Given the description of an element on the screen output the (x, y) to click on. 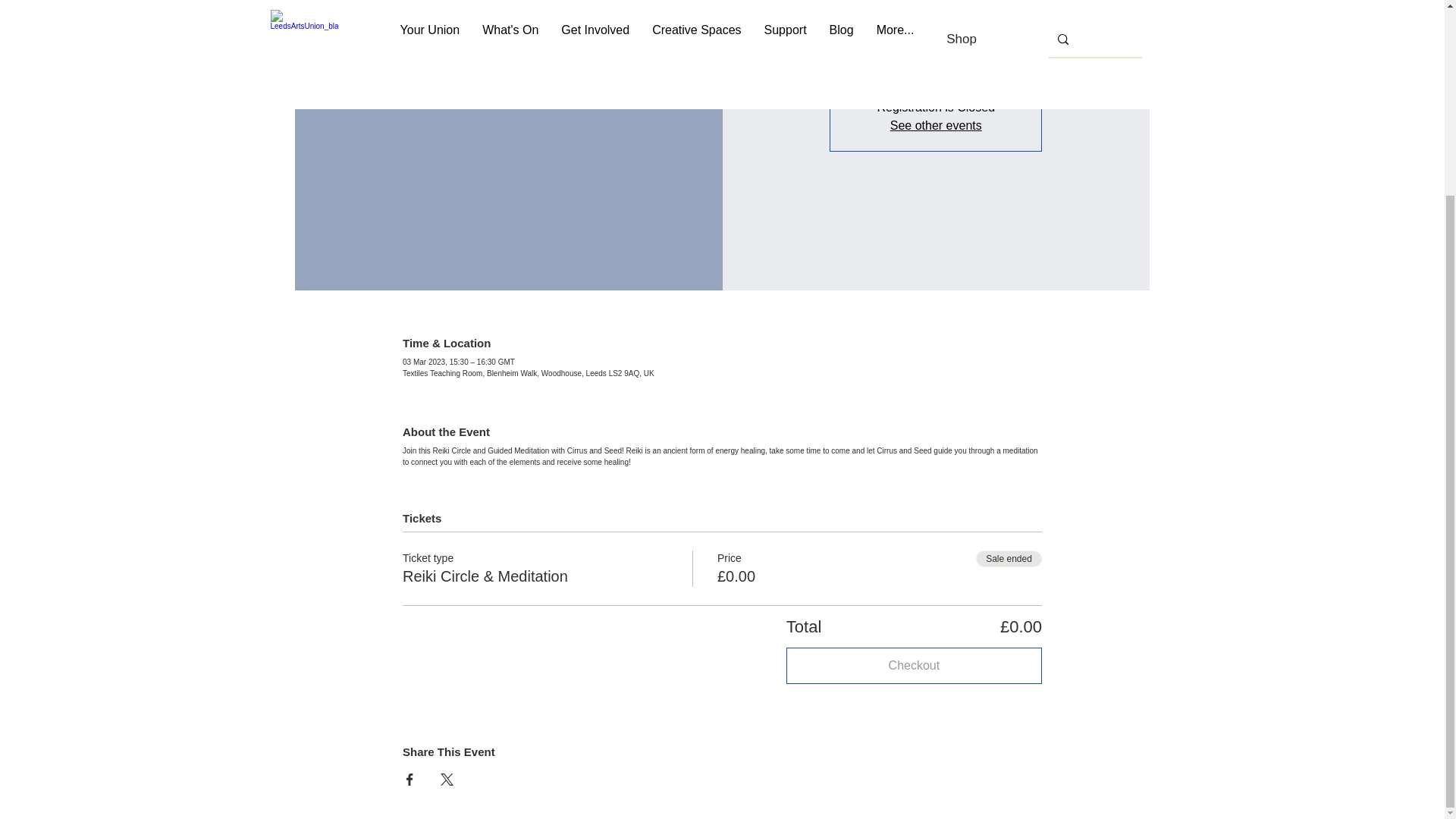
Checkout (914, 665)
See other events (935, 124)
